Given the description of an element on the screen output the (x, y) to click on. 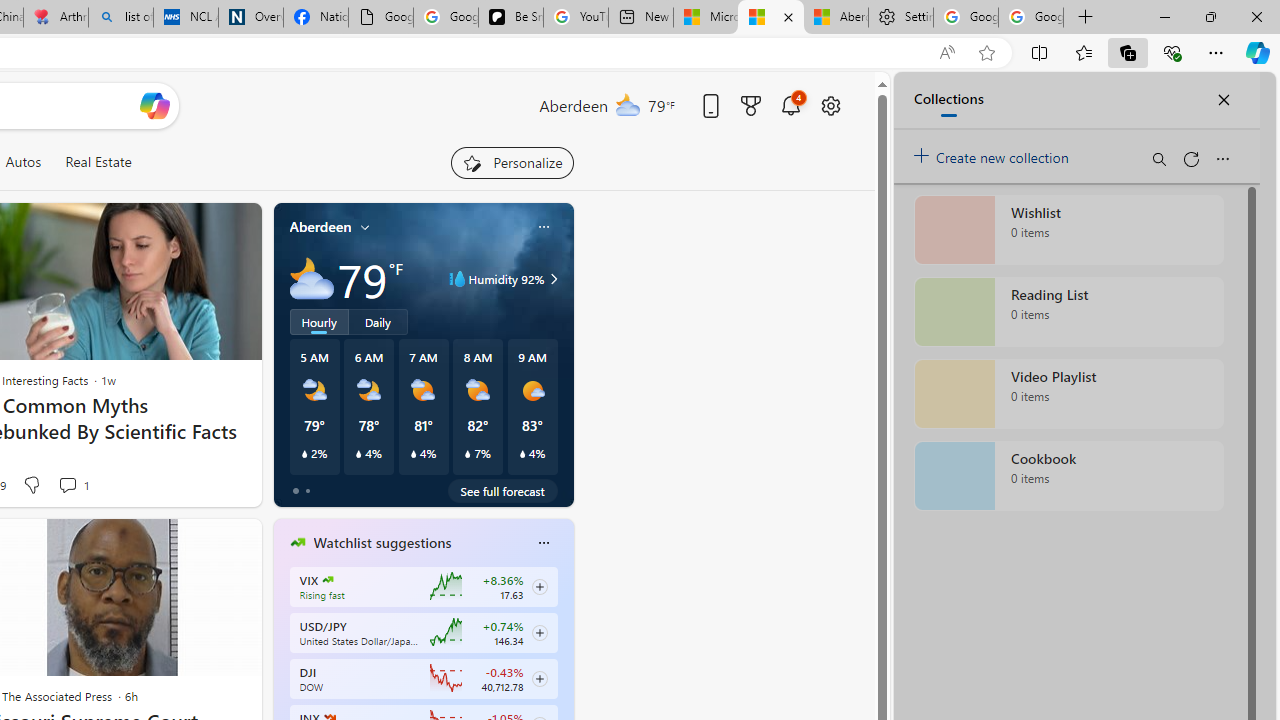
Personalize your feed" (511, 162)
Mostly cloudy (311, 278)
tab-0 (295, 490)
See full forecast (502, 490)
